Given the description of an element on the screen output the (x, y) to click on. 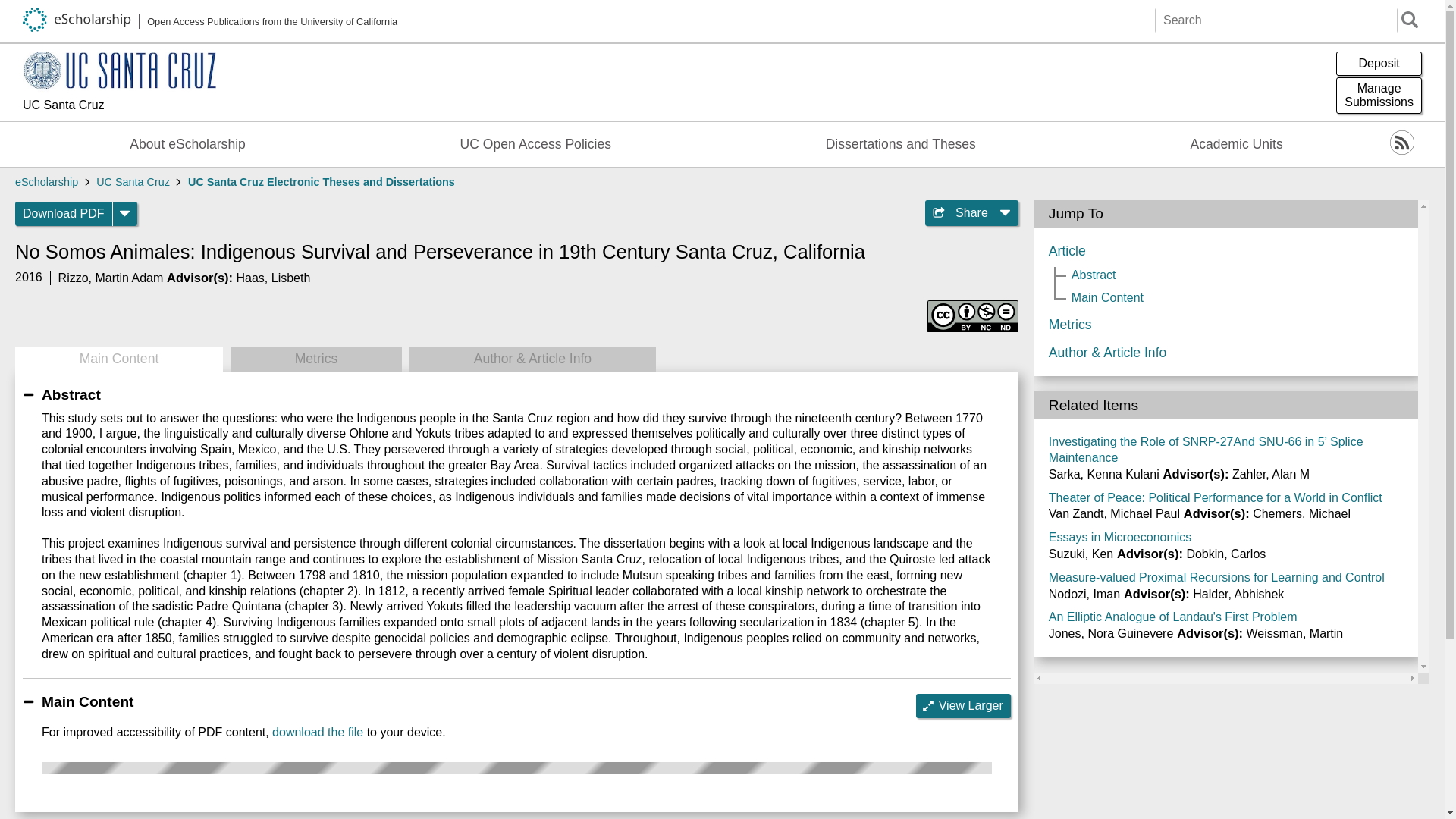
Rizzo, Martin Adam (110, 277)
Dissertations and Theses (901, 143)
UC Santa Cruz (119, 105)
Main Content (118, 359)
UC Open Access Policies (535, 143)
Download PDF (63, 213)
Deposit (1379, 63)
download the file (317, 731)
About eScholarship (187, 143)
Academic Units (1236, 143)
UC Santa Cruz Electronic Theses and Dissertations (320, 182)
Metrics (1379, 94)
eScholarship (315, 359)
UC Santa Cruz (46, 182)
